Given the description of an element on the screen output the (x, y) to click on. 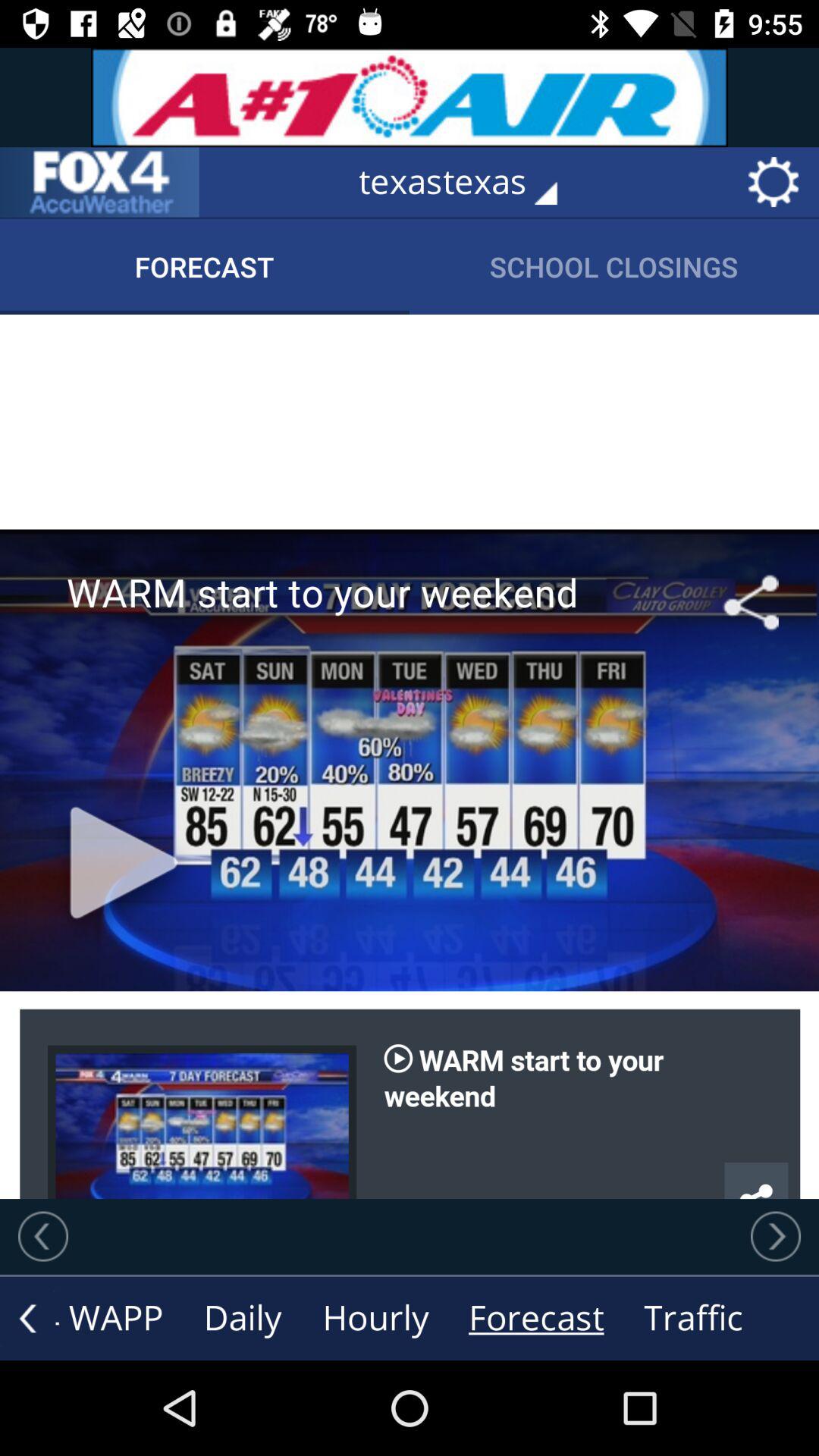
go to weather (99, 182)
